Given the description of an element on the screen output the (x, y) to click on. 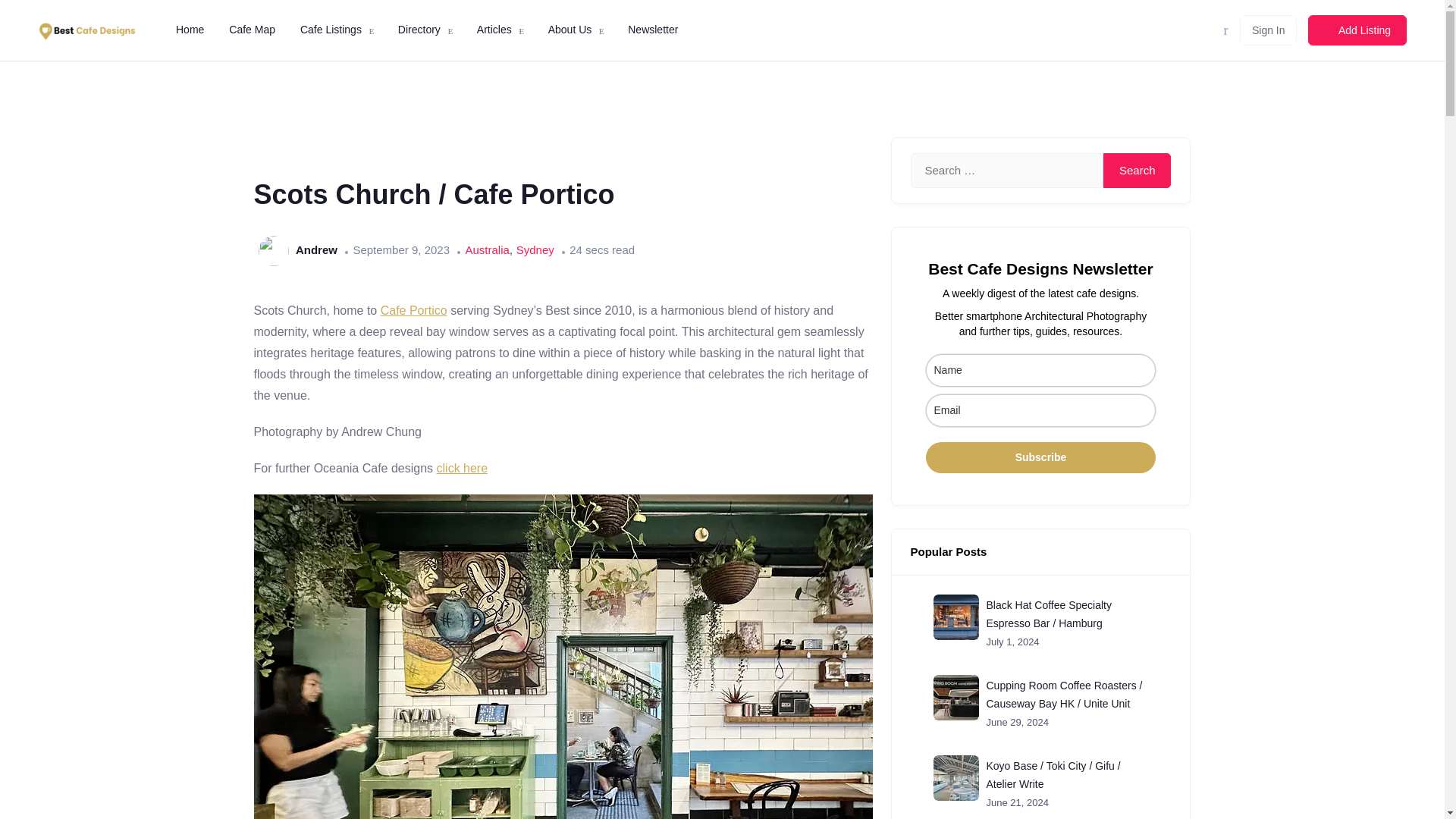
Cafe Listings (329, 30)
Cafe Map (249, 30)
Search (1137, 170)
Search (1137, 170)
Home (188, 30)
